Given the description of an element on the screen output the (x, y) to click on. 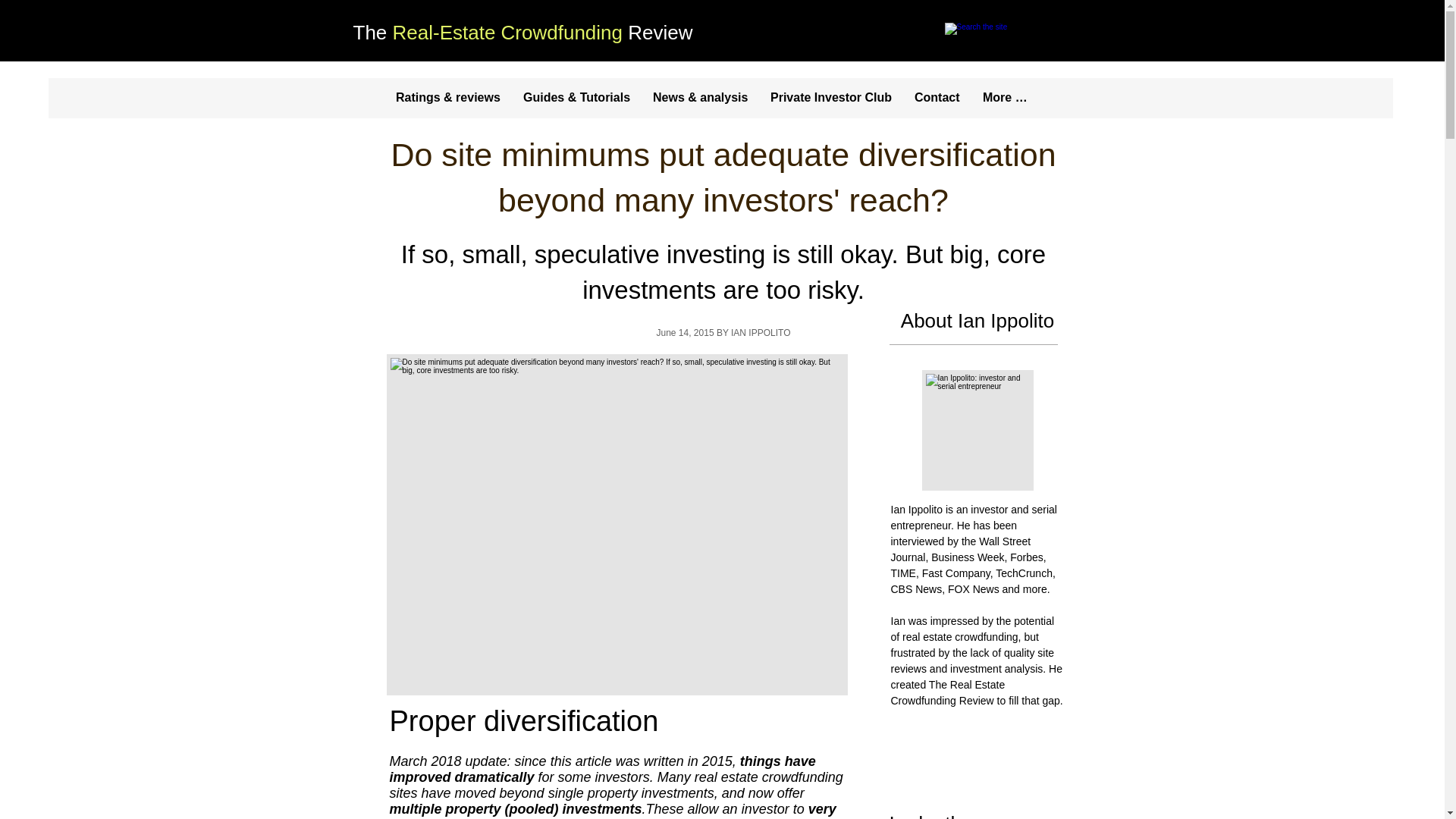
Private Investor Club (830, 97)
Contact (936, 97)
Review (658, 32)
Search (1012, 33)
Real-Estate Crowdfunding (508, 32)
Ian Ippolito: investor and serial entrepreneur (977, 430)
The (373, 32)
